Given the description of an element on the screen output the (x, y) to click on. 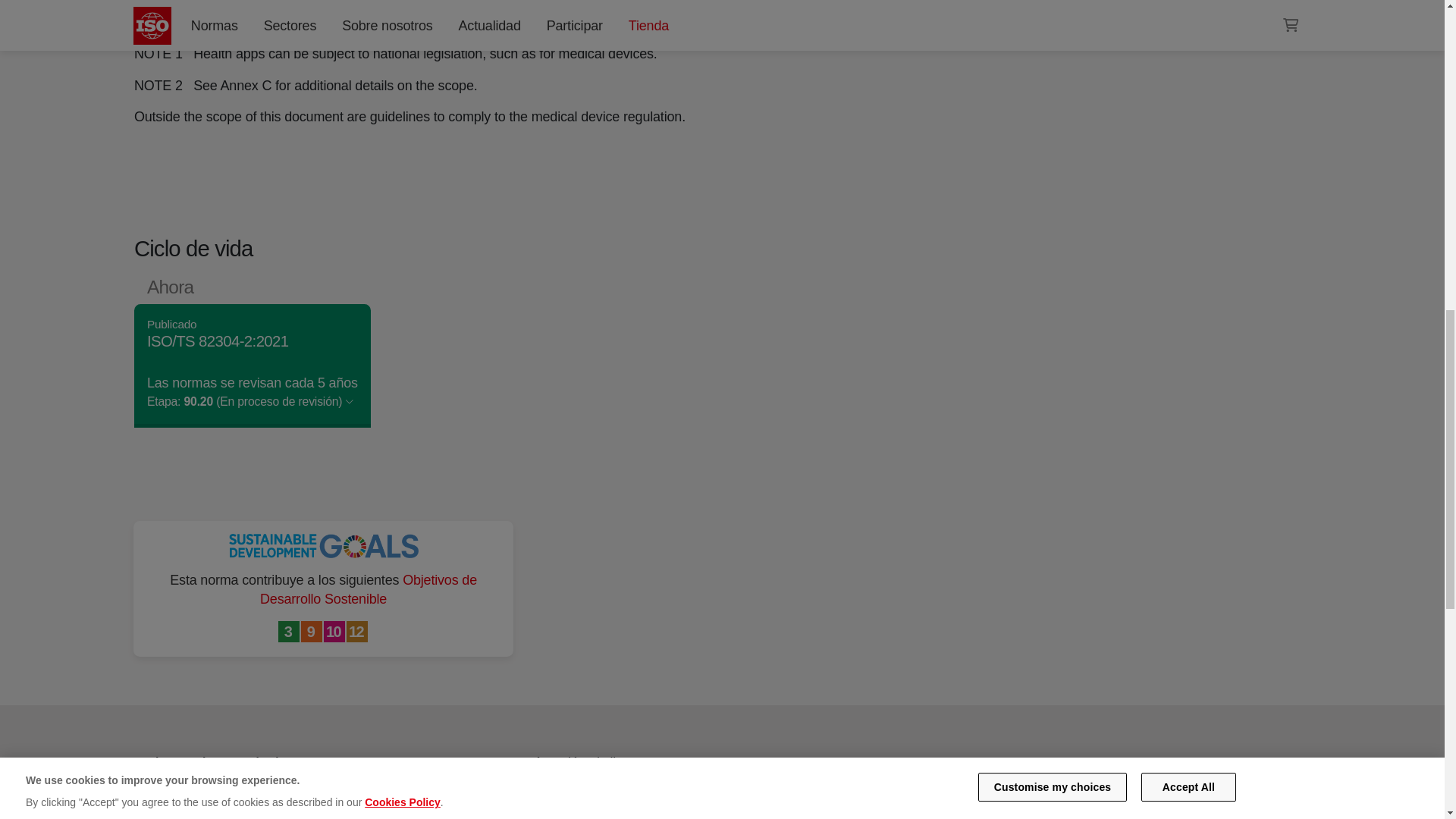
IT applications in health care technology (1045, 1)
35.240.80 (1045, 1)
Software (988, 1)
35.080 (988, 1)
